Given the description of an element on the screen output the (x, y) to click on. 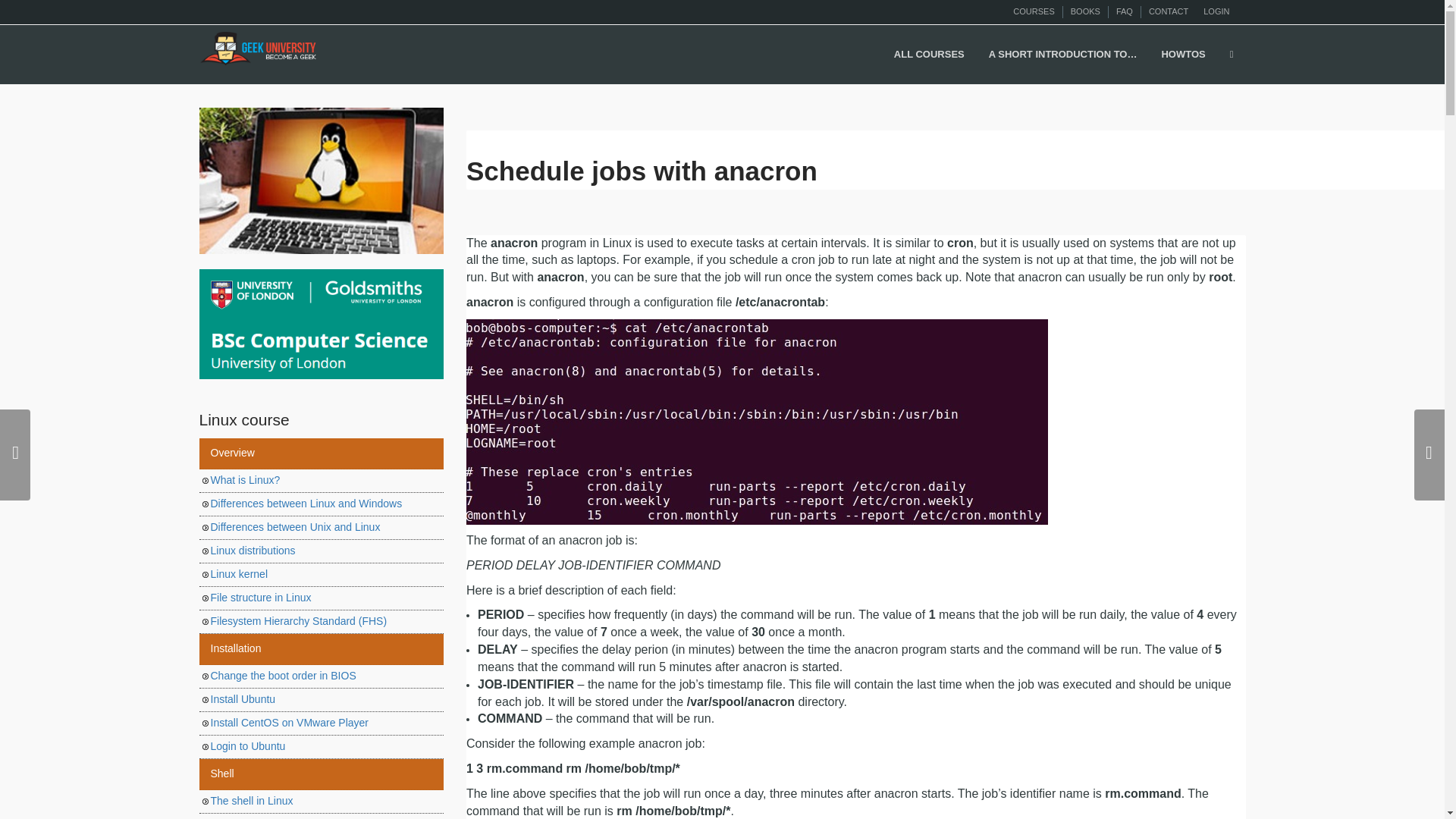
COURSES (1033, 10)
LOGIN (1216, 10)
FAQ (1124, 10)
CONTACT (1168, 10)
BOOKS (1085, 10)
ALL COURSES (929, 55)
